Given the description of an element on the screen output the (x, y) to click on. 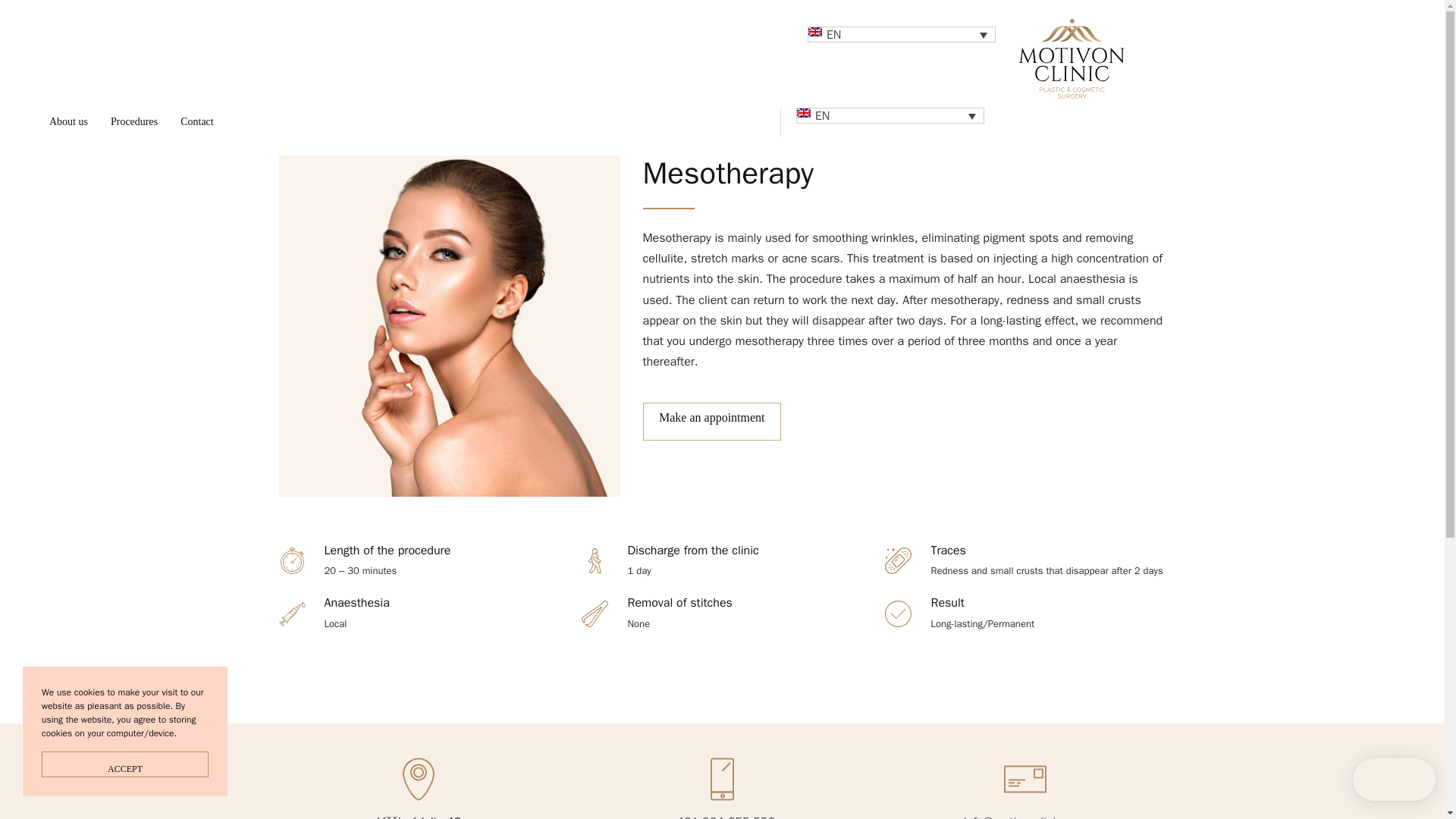
Motivon Clinic (1070, 58)
EN (900, 34)
EN (890, 115)
Smartsupp widget button (1393, 779)
Procedures (133, 121)
About us (68, 121)
ACCEPT (125, 764)
Make an appointment (711, 421)
Contact (197, 121)
